Given the description of an element on the screen output the (x, y) to click on. 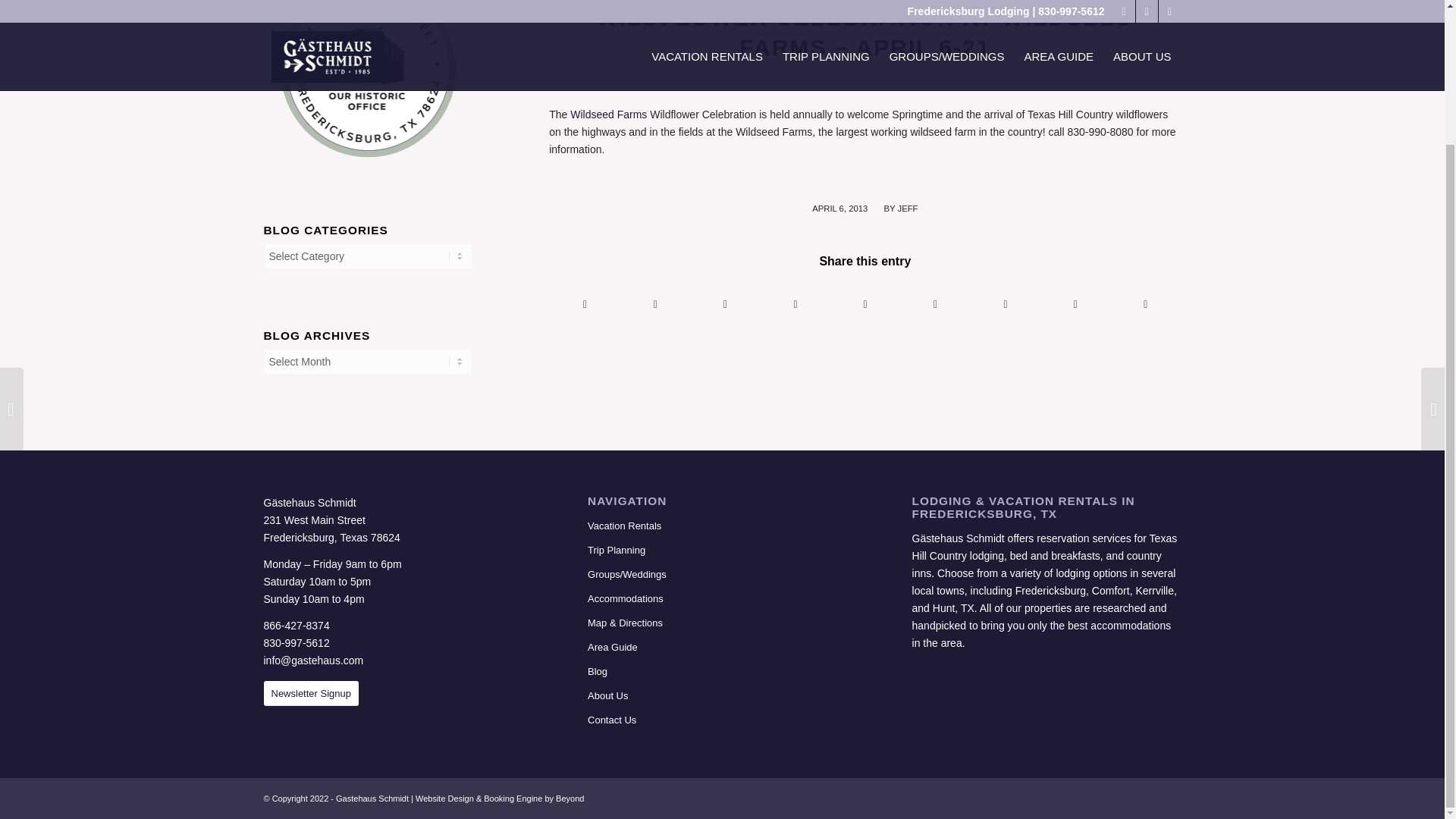
Posts by Jeff (906, 207)
